Given the description of an element on the screen output the (x, y) to click on. 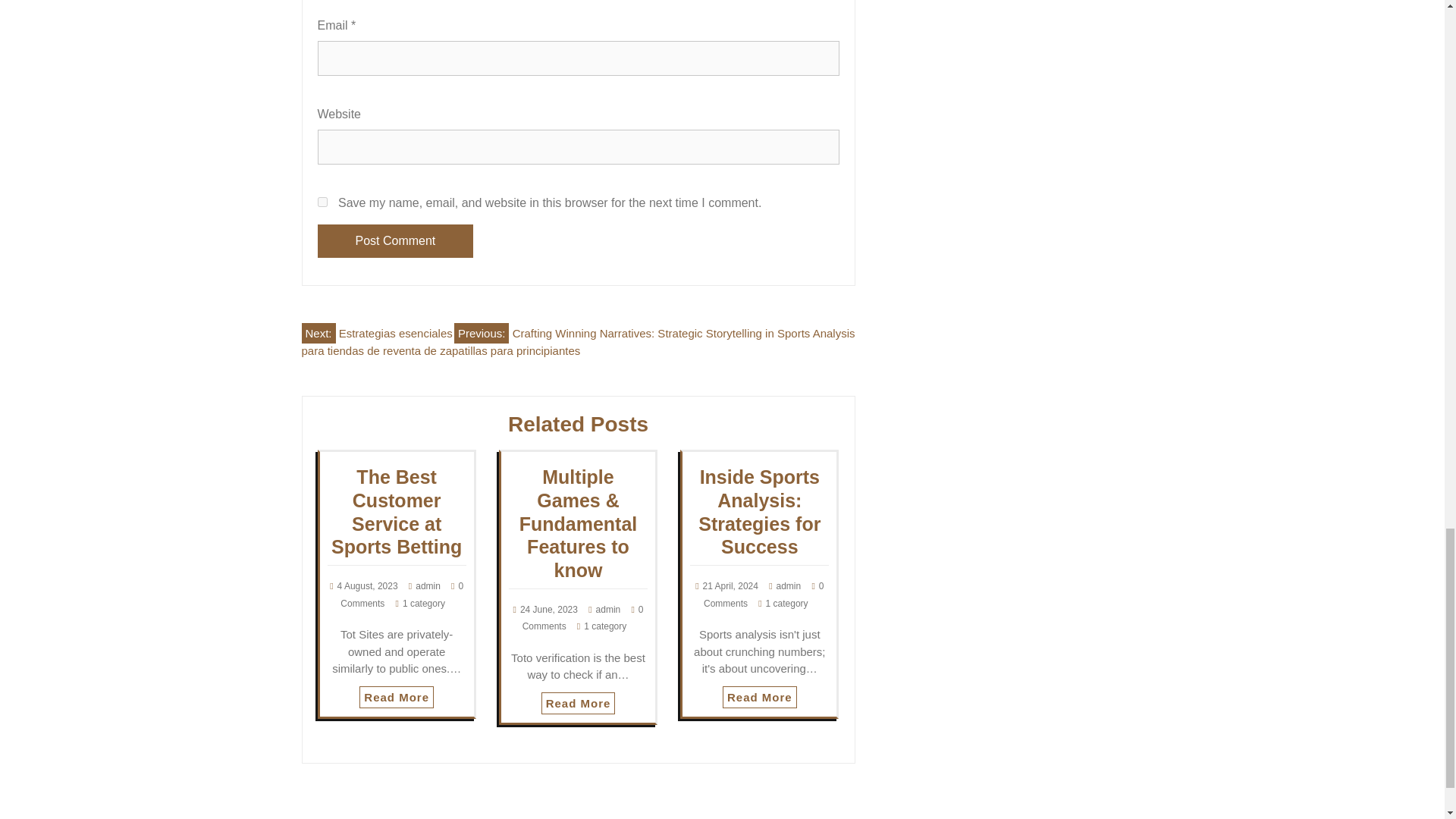
The Best Customer Service at Sports Betting (396, 511)
Read More (759, 697)
Read More (396, 697)
Post Comment (395, 240)
Post Comment (395, 240)
Read More (396, 697)
Read More (578, 703)
Inside Sports Analysis: Strategies for Success (759, 511)
Read More (578, 703)
Read More (759, 697)
The Best Customer Service at Sports Betting (396, 511)
yes (321, 202)
Inside Sports Analysis: Strategies for Success (759, 511)
